Given the description of an element on the screen output the (x, y) to click on. 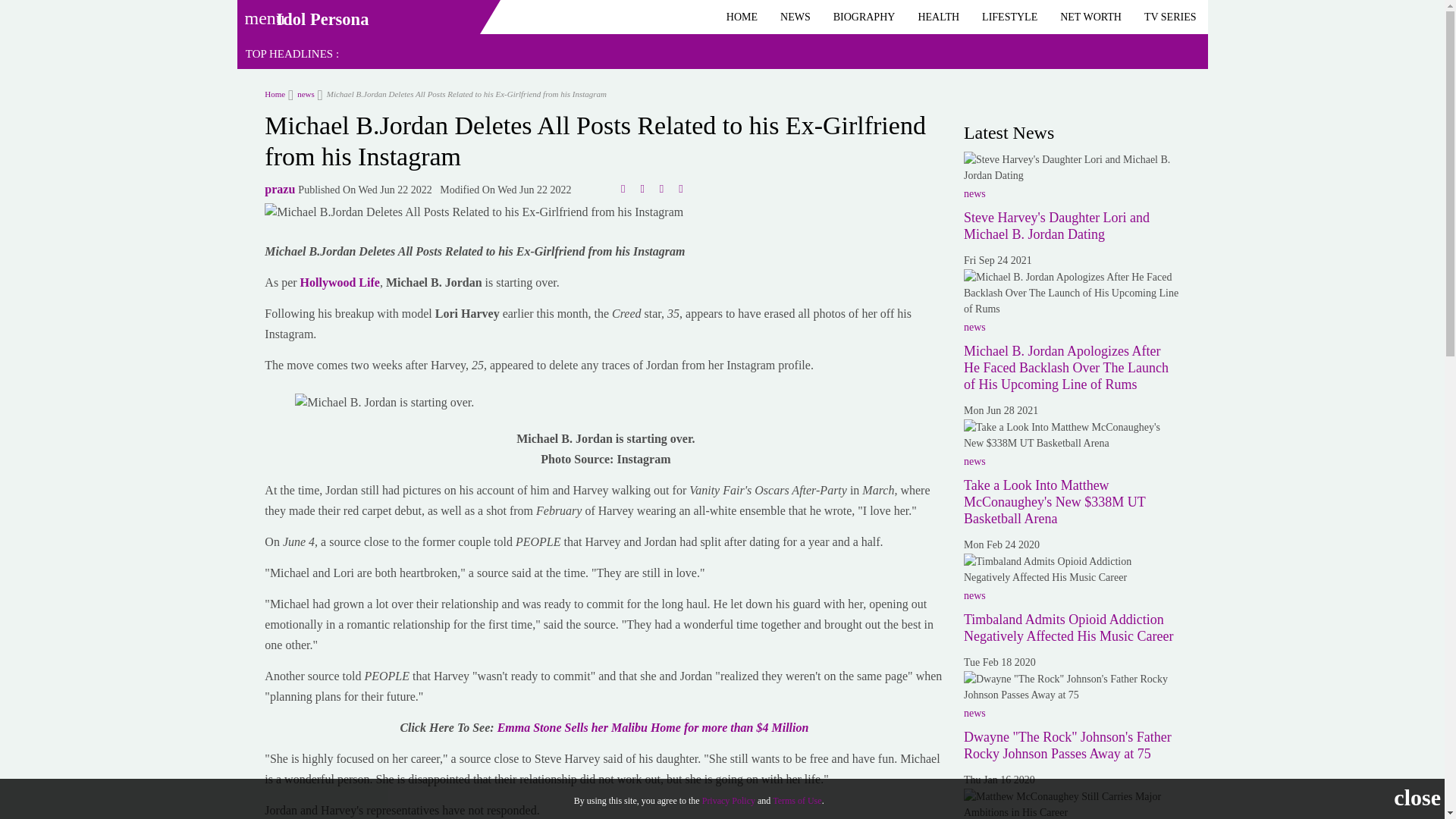
TV SERIES (1170, 17)
NEWS (795, 17)
HOME (741, 17)
menu (259, 13)
BIOGRAPHY (864, 17)
Steve Harvey's Daughter Lori and Michael B. Jordan Dating  (1056, 225)
Home (274, 93)
news (301, 93)
Hollywood Life (339, 282)
prazu (279, 188)
Terms of Use (797, 800)
